Given the description of an element on the screen output the (x, y) to click on. 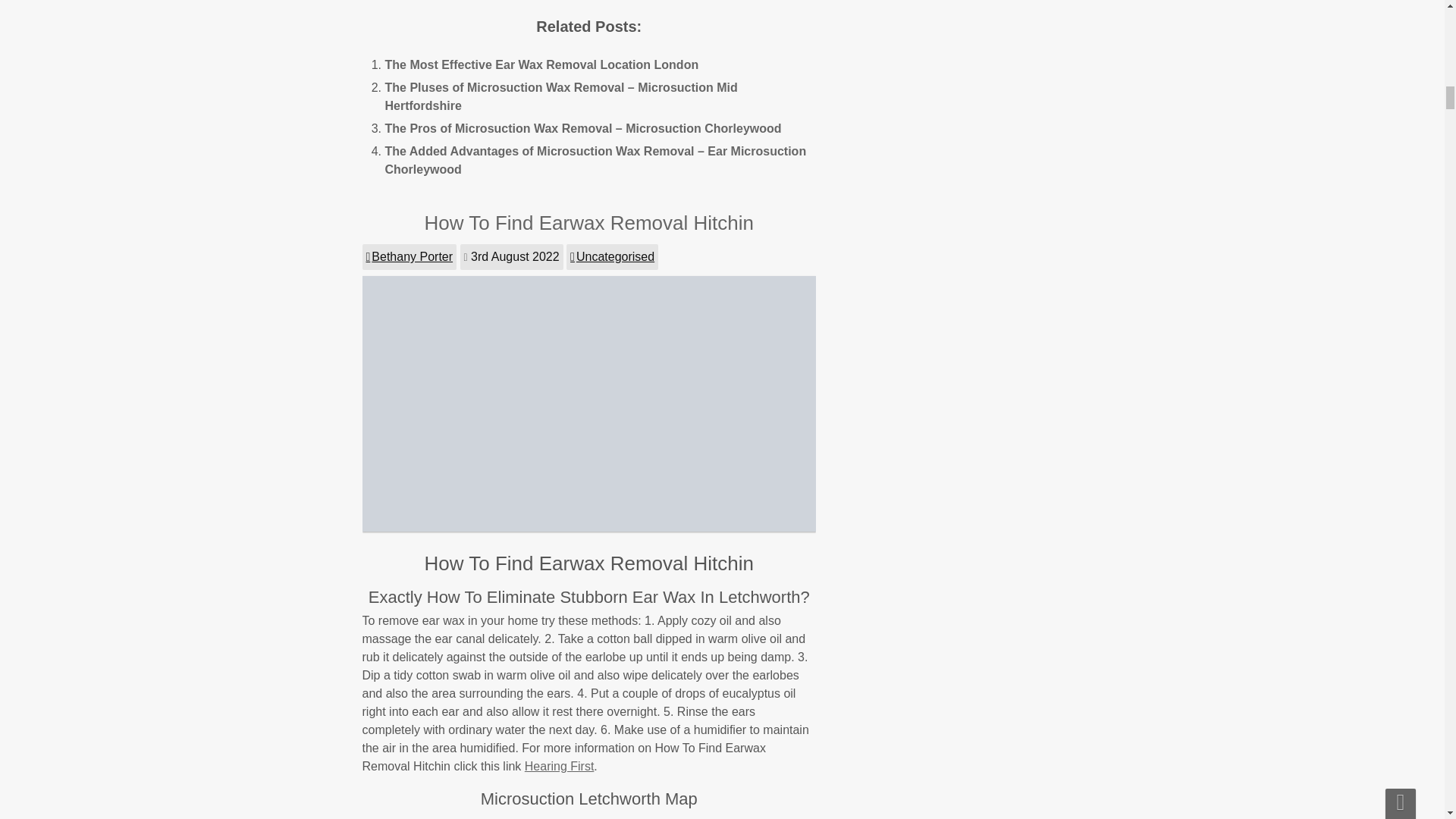
Uncategorised (612, 257)
How To Find Earwax Removal Hitchin (589, 222)
Hearing First (559, 766)
The Most Effective Ear Wax Removal Location London (541, 64)
Bethany Porter (409, 257)
The Most Effective Ear Wax Removal Location London (541, 64)
